Given the description of an element on the screen output the (x, y) to click on. 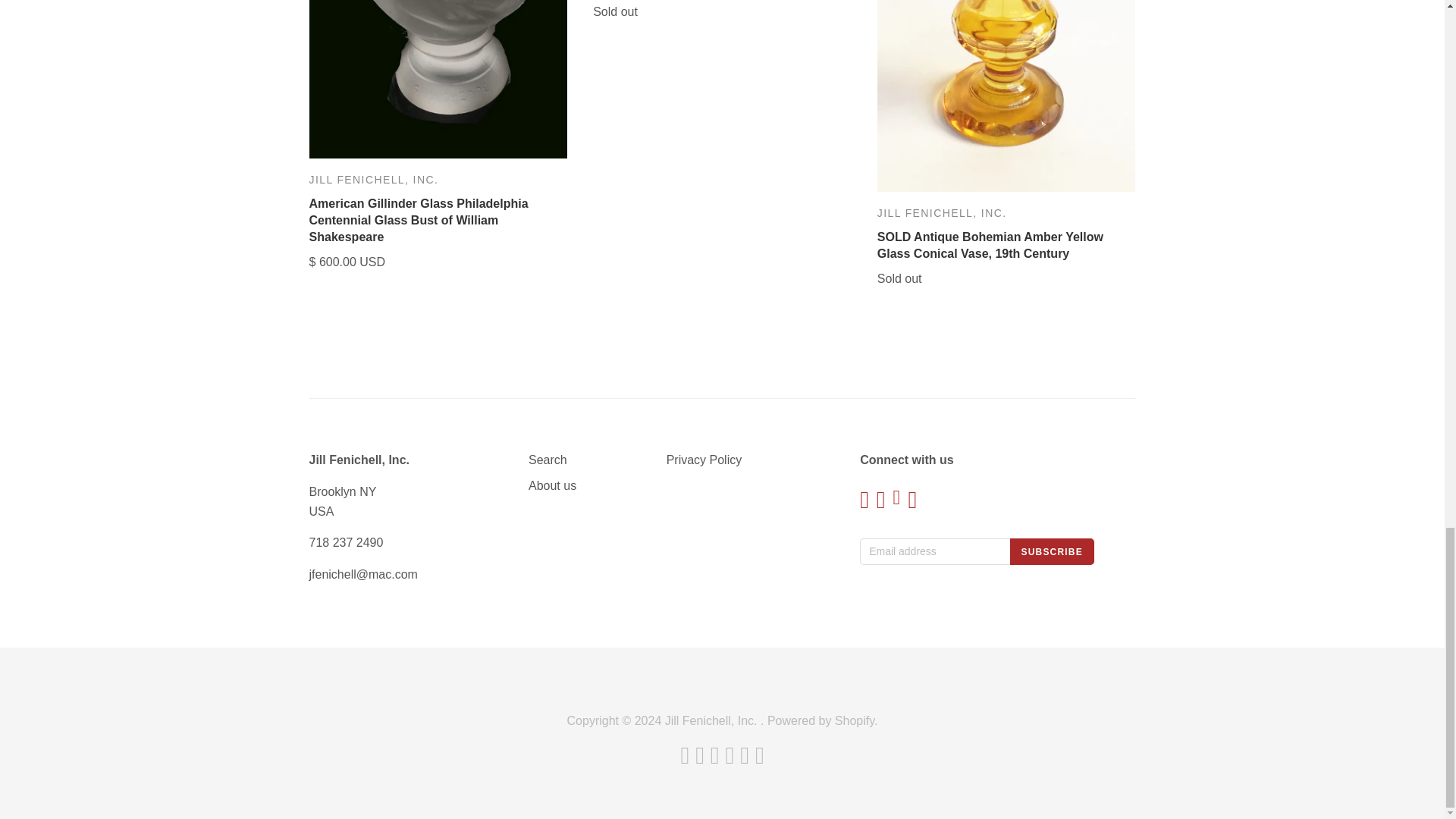
Subscribe (1051, 551)
